Given the description of an element on the screen output the (x, y) to click on. 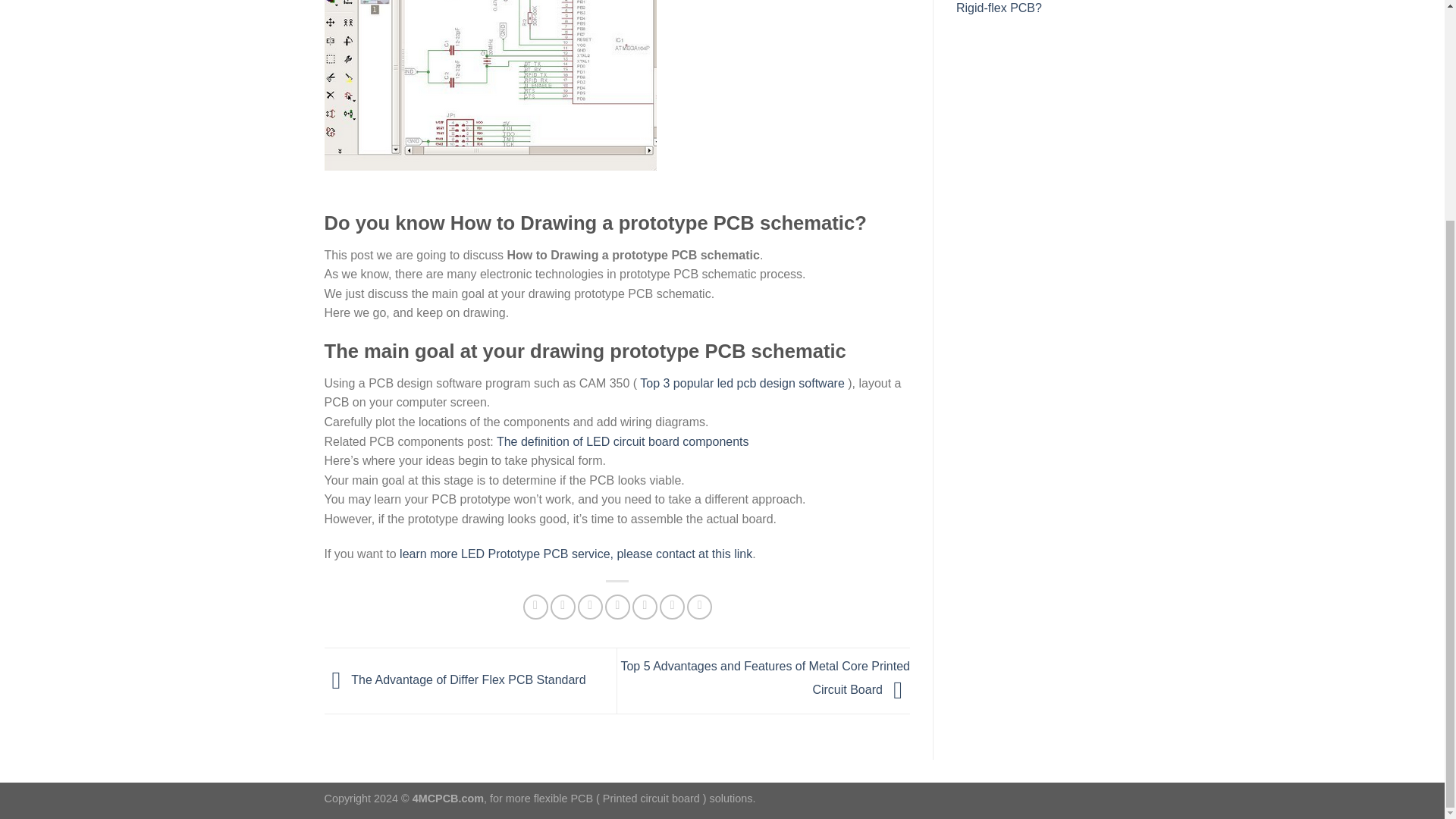
flexible PCB (563, 798)
Top 3 popular led pcb design software (742, 382)
The Advantage of Differ Flex PCB Standard (455, 679)
The definition of LED circuit board components (622, 440)
